Given the description of an element on the screen output the (x, y) to click on. 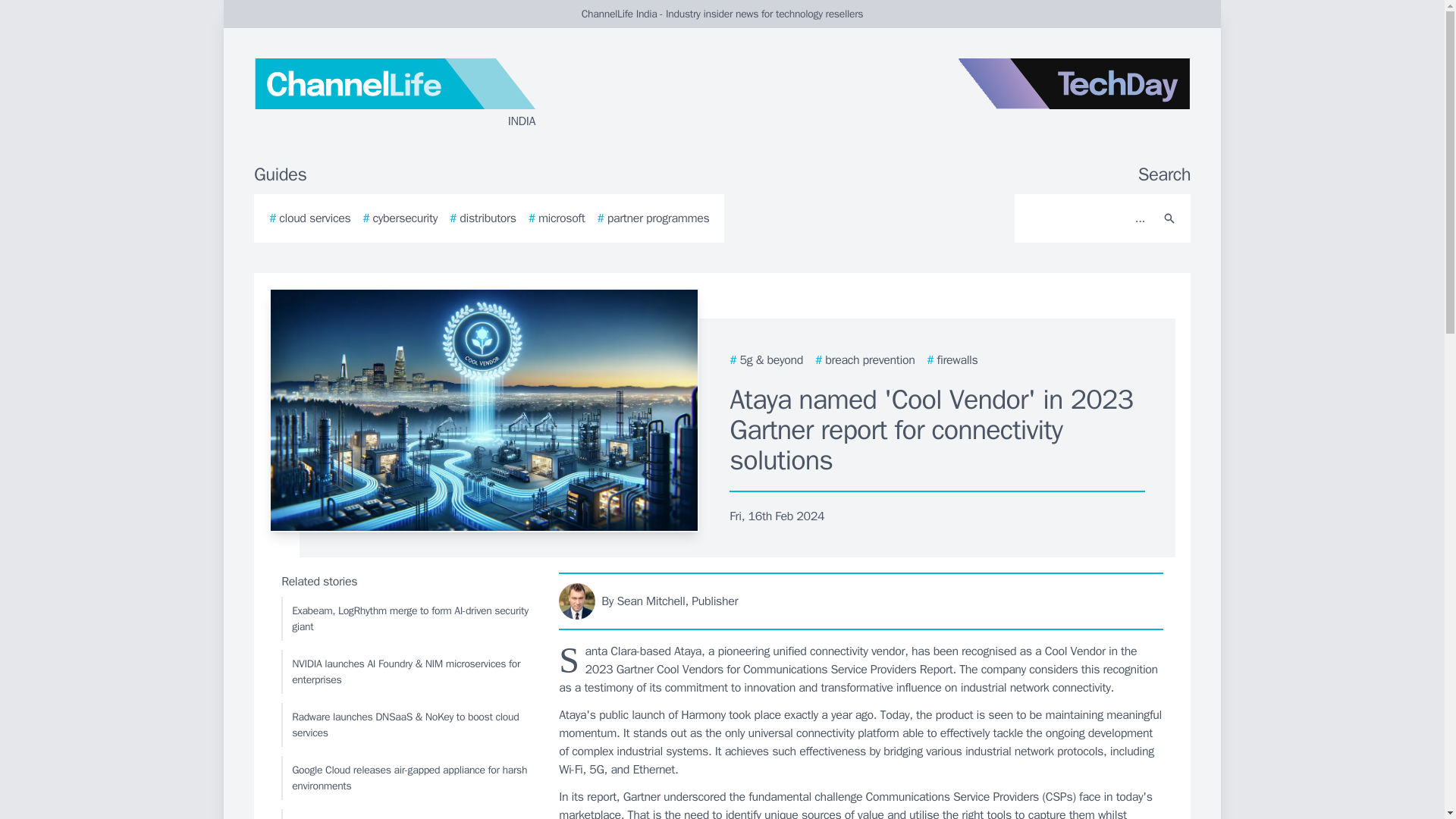
INDIA (435, 94)
By Sean Mitchell, Publisher (861, 601)
Exabeam, LogRhythm merge to form AI-driven security giant (406, 618)
